Given the description of an element on the screen output the (x, y) to click on. 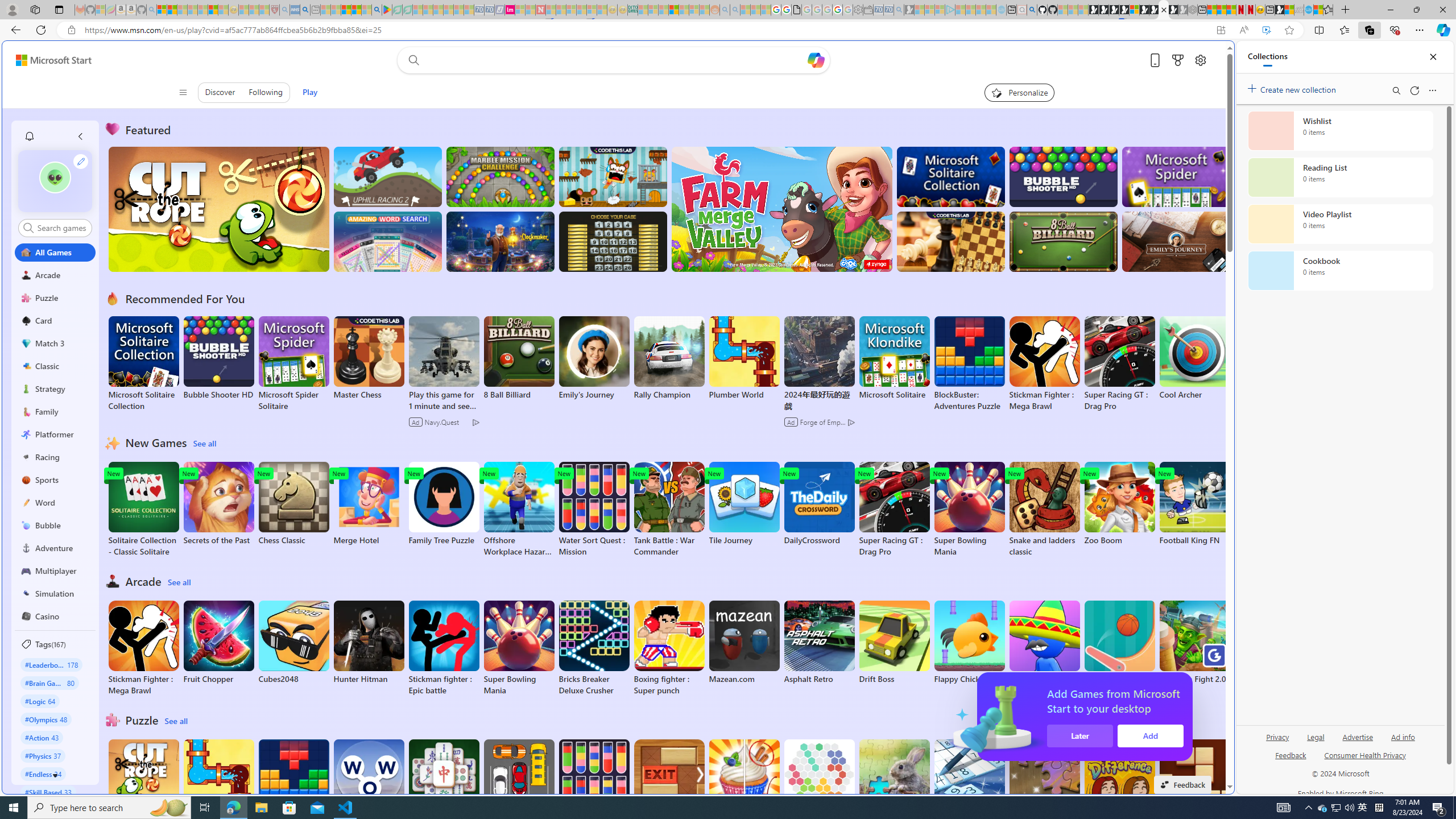
Tank Battle : War Commander (668, 509)
Jobs - lastminute.com Investor Portal (509, 9)
Personalize your feed" (1019, 92)
Create new collection (1293, 87)
Enhance video (1266, 29)
Cubes2048 (293, 642)
Play Cave FRVR in your browser | Games from Microsoft Start (922, 242)
